Given the description of an element on the screen output the (x, y) to click on. 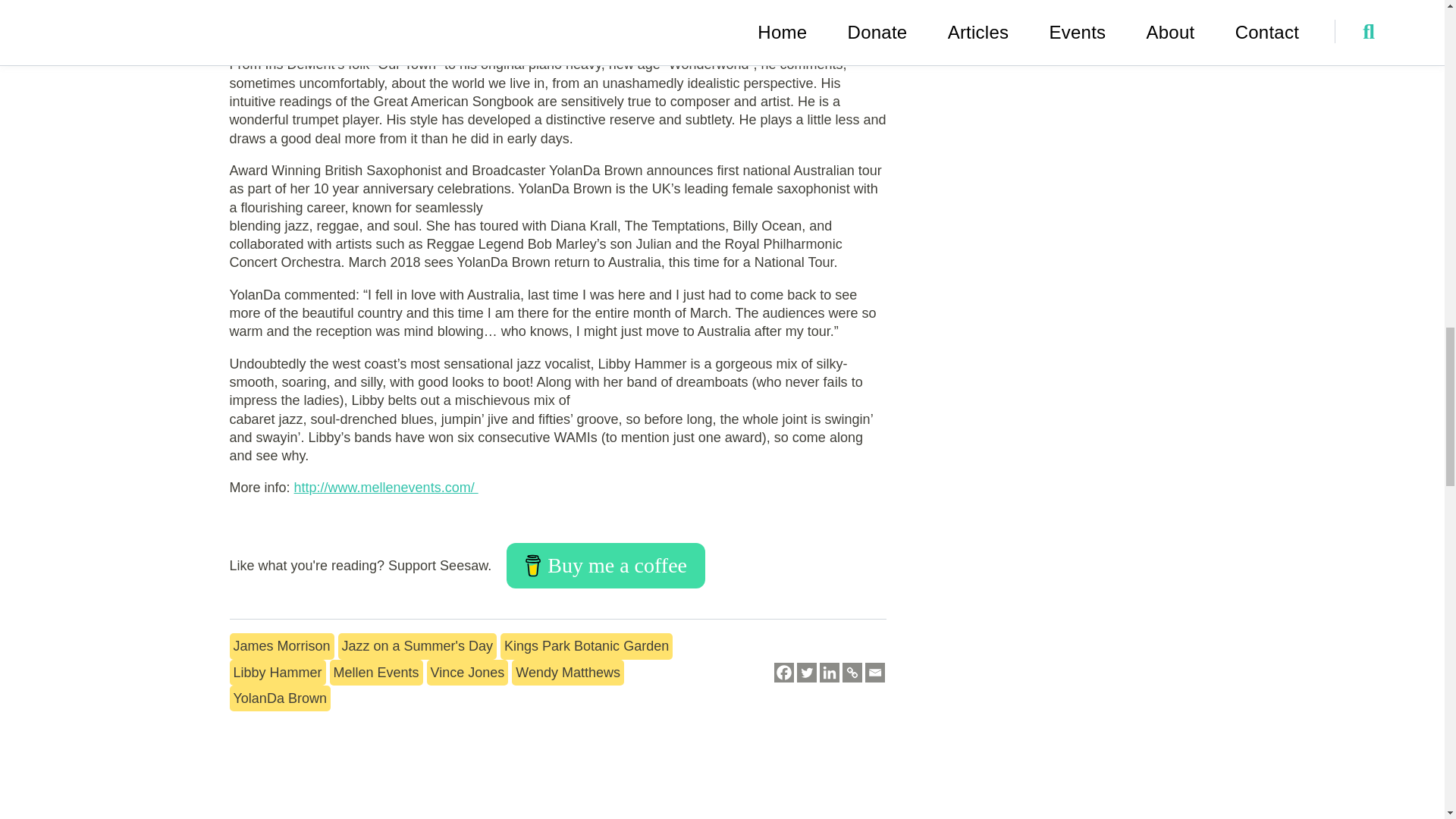
Email (874, 672)
Twitter (806, 672)
Copy Link (852, 672)
Facebook (783, 672)
Linkedin (829, 672)
